Given the description of an element on the screen output the (x, y) to click on. 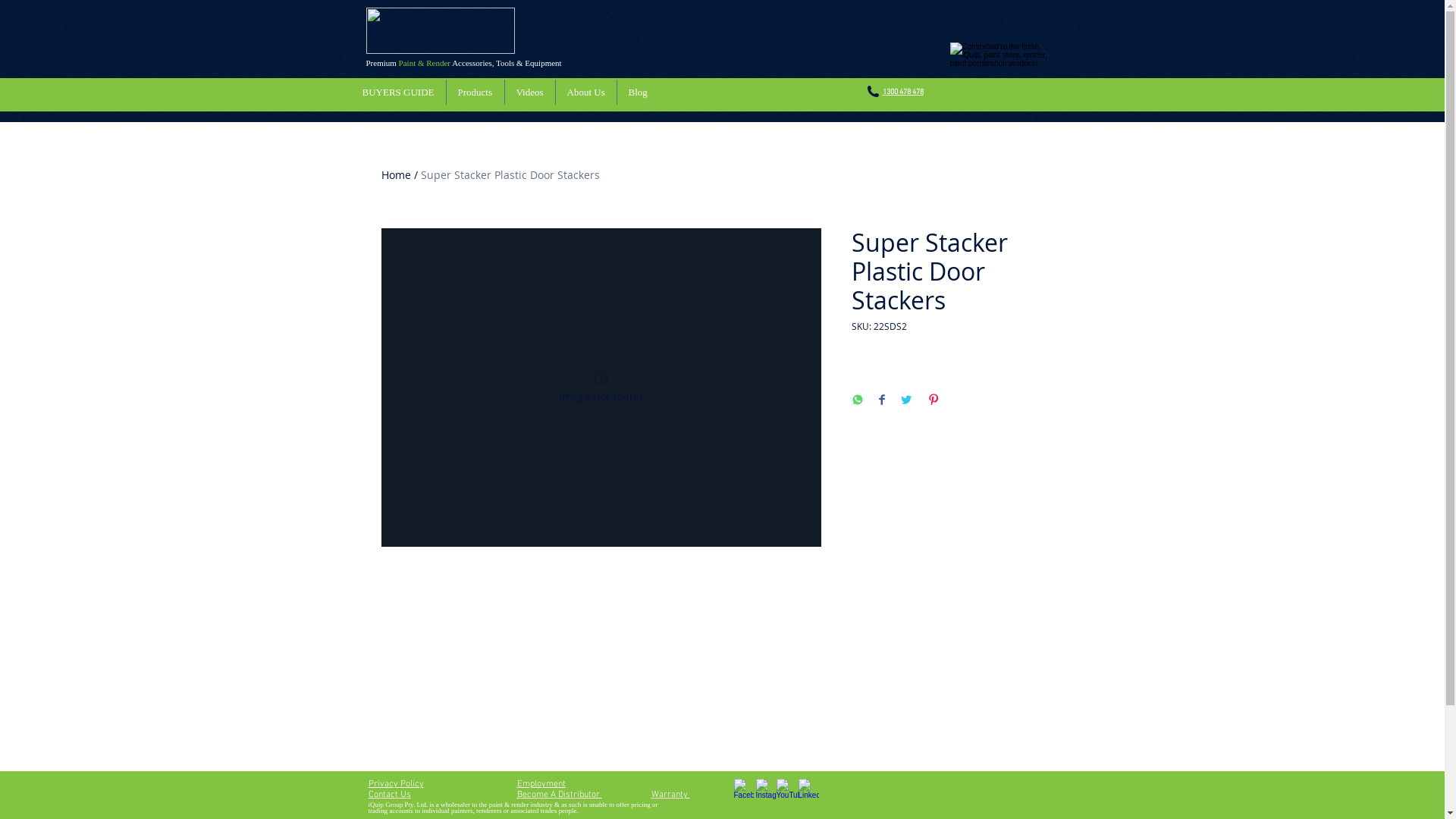
Employment Element type: text (541, 783)
Contact Us Element type: text (389, 794)
Privacy Policy Element type: text (395, 783)
Products Element type: text (474, 91)
Warranty  Element type: text (669, 794)
Home Element type: text (395, 174)
Site Search Element type: hover (1013, 95)
Embedded Content Element type: hover (931, 694)
Blog Element type: text (636, 91)
BUYERS GUIDE Element type: text (397, 91)
1300 478 478 Element type: text (902, 92)
About Us Element type: text (585, 91)
Super Stacker Plastic Door Stackers Element type: text (509, 174)
Become A Distributor  Element type: text (559, 794)
